Given the description of an element on the screen output the (x, y) to click on. 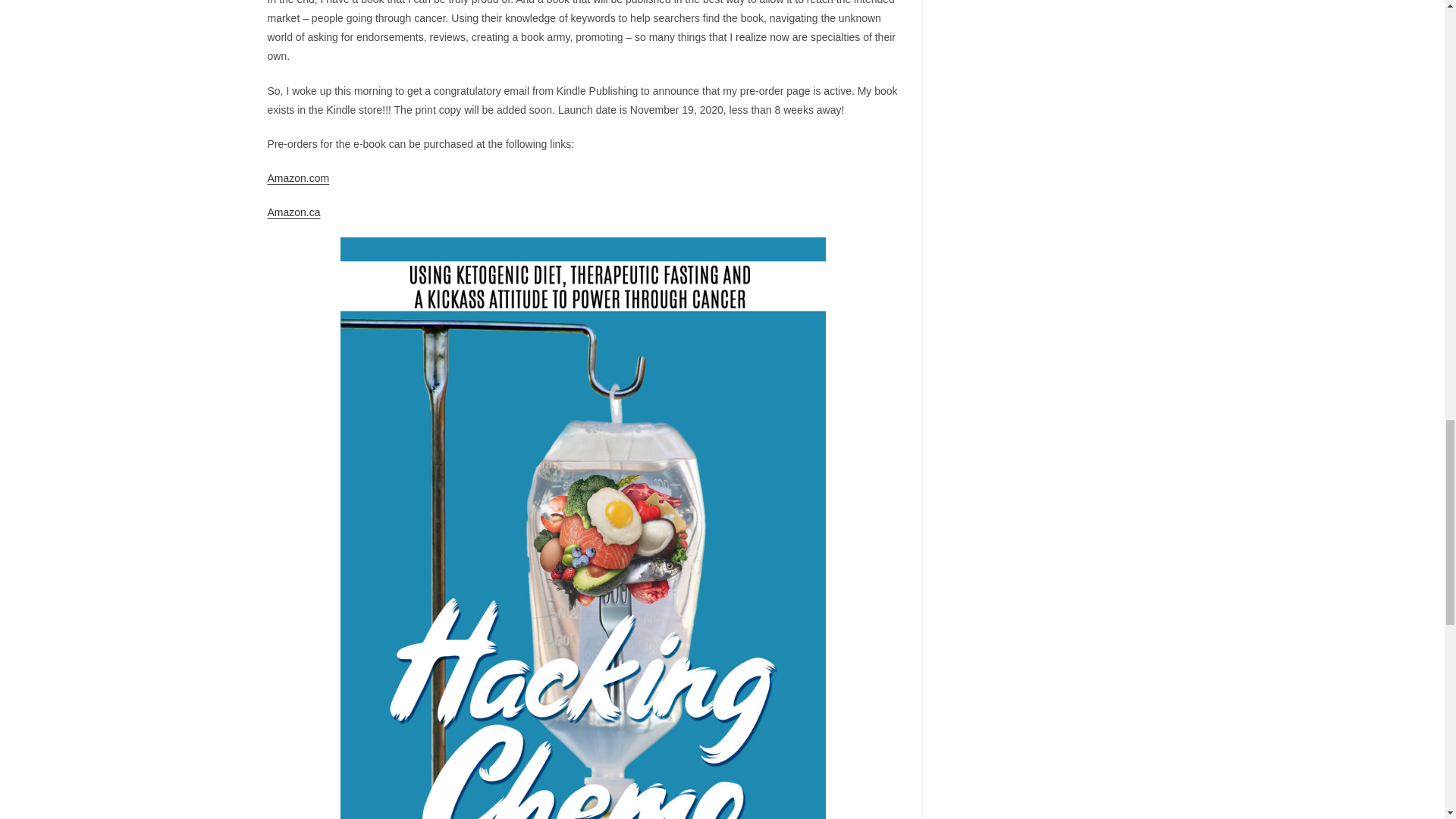
Amazon.ca (293, 212)
Amazon.com (297, 177)
